Given the description of an element on the screen output the (x, y) to click on. 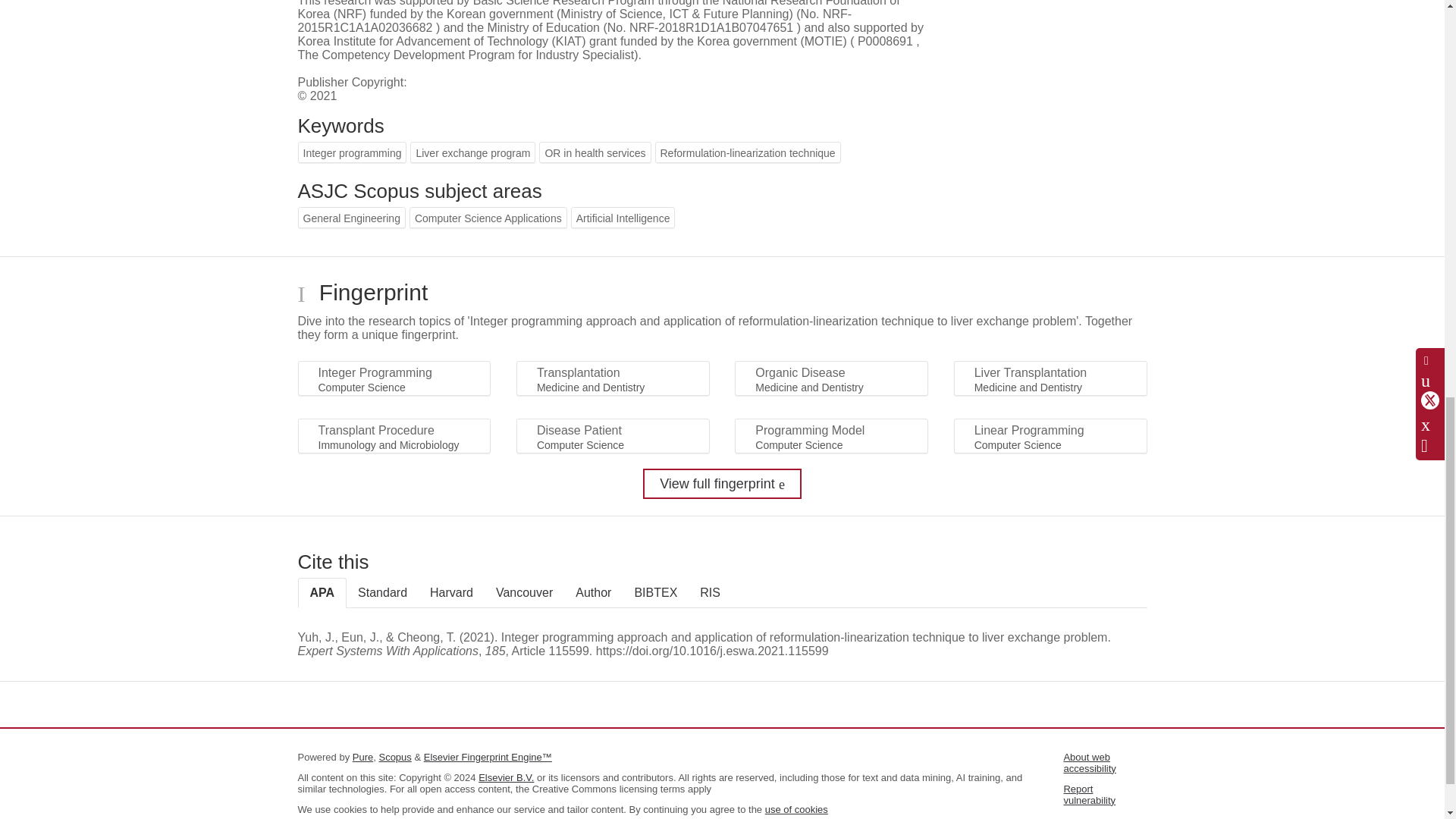
Pure (362, 756)
use of cookies (796, 808)
Scopus (394, 756)
View full fingerprint (722, 483)
Elsevier B.V. (506, 777)
